Given the description of an element on the screen output the (x, y) to click on. 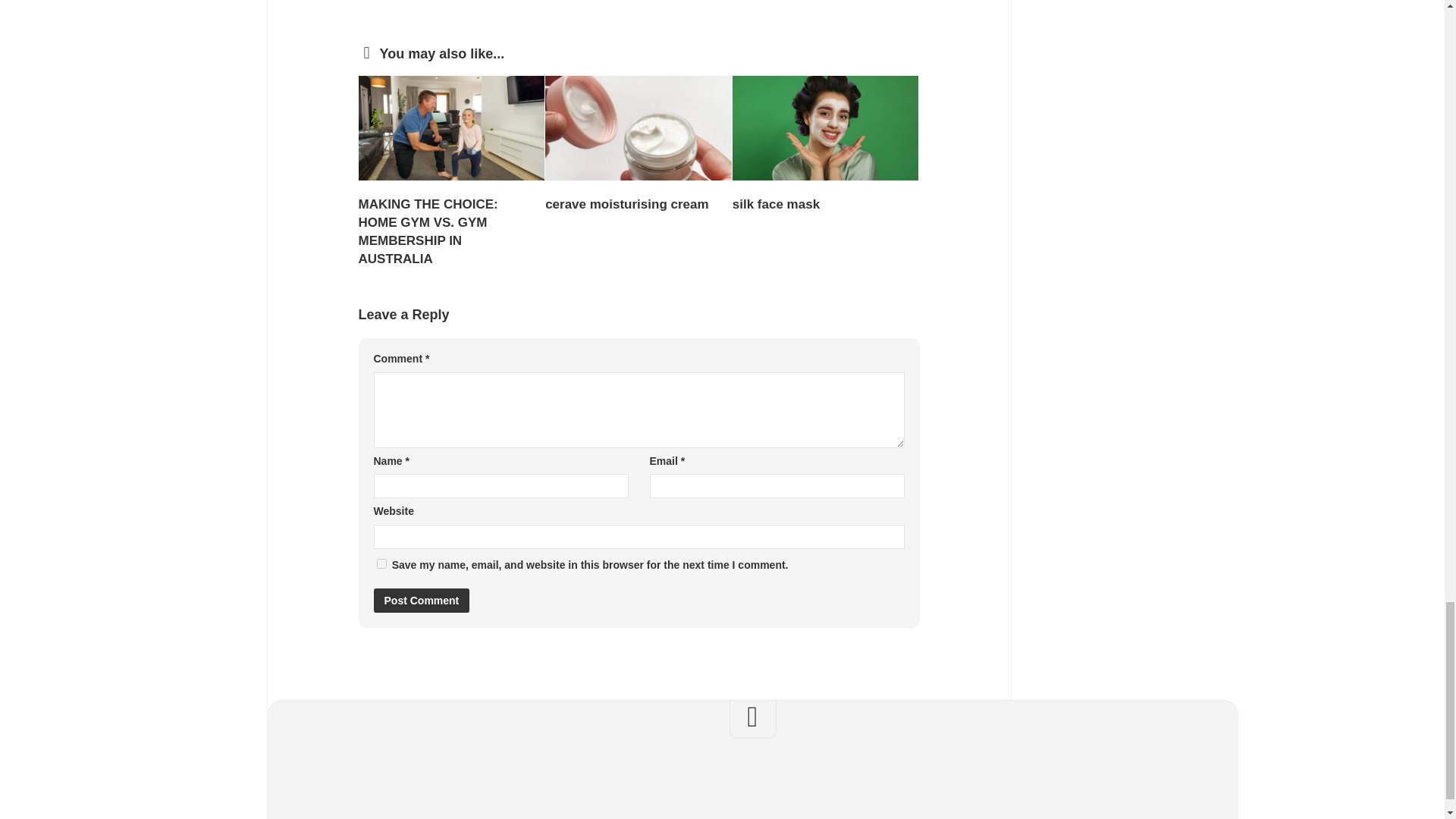
silk face mask (775, 204)
cerave moisturising cream (625, 204)
Post Comment (420, 600)
yes (380, 563)
Post Comment (420, 600)
MAKING THE CHOICE: HOME GYM VS. GYM MEMBERSHIP IN AUSTRALIA (427, 231)
